Given the description of an element on the screen output the (x, y) to click on. 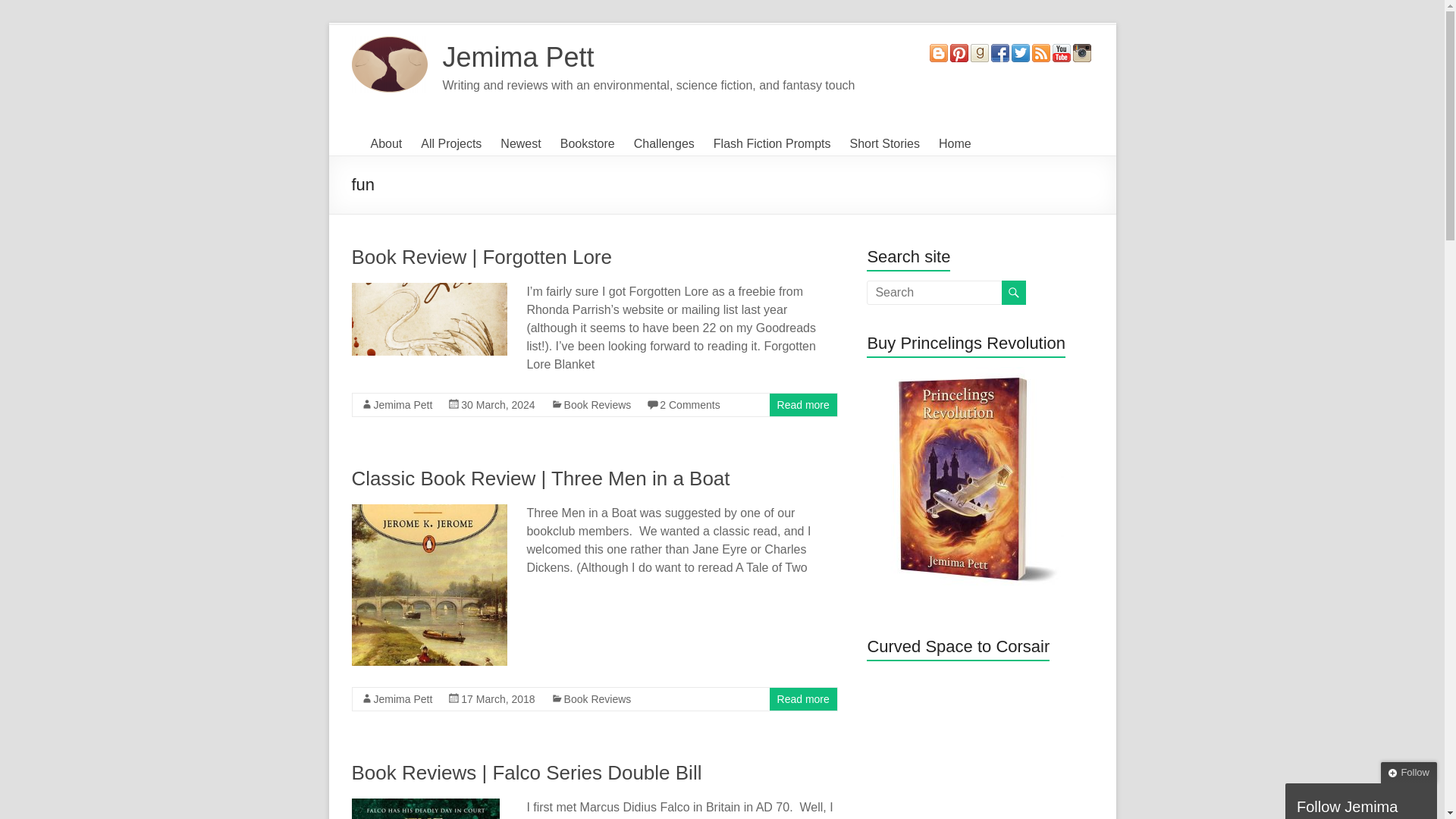
6:34 am (497, 404)
YouTube Channel (1061, 51)
Connect on Facebook (999, 51)
Jemima Pett (518, 56)
Bookstore (587, 143)
About (385, 143)
jemimapett on Pinterest (958, 51)
jemima.pett on Instagram (1080, 51)
Newest (520, 143)
Subscribe to RSS Feed (1039, 51)
Jemima Pett (518, 56)
Blogger Blog (938, 51)
All Projects (450, 143)
Goodreads (979, 51)
